Given the description of an element on the screen output the (x, y) to click on. 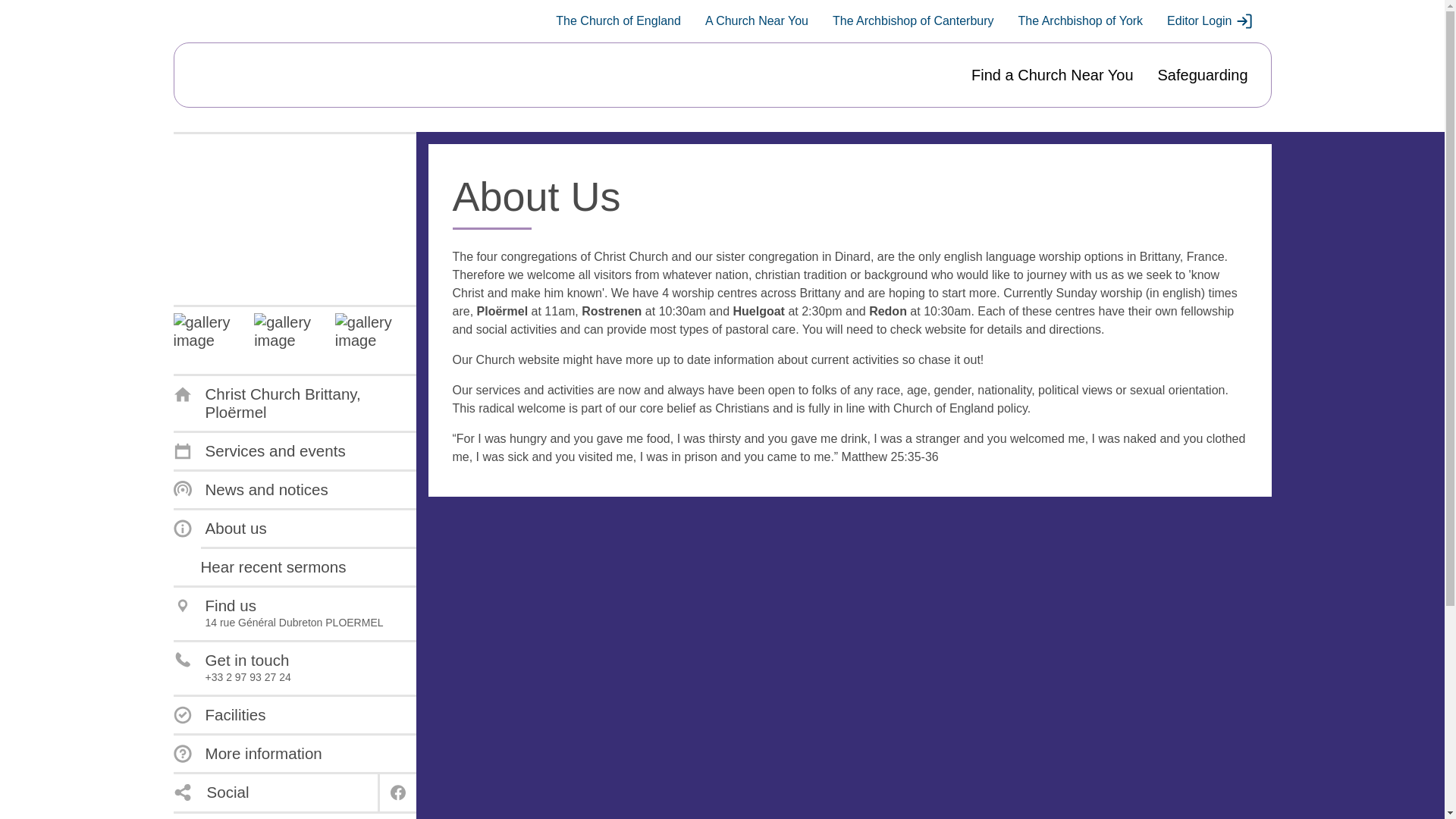
Find a Church Near You (1051, 75)
News and notices (250, 489)
About us (219, 528)
The Church of England (618, 21)
Safeguarding (1202, 75)
The Archbishop of York (1079, 21)
Services and events (259, 451)
Hear recent sermons (273, 566)
